Given the description of an element on the screen output the (x, y) to click on. 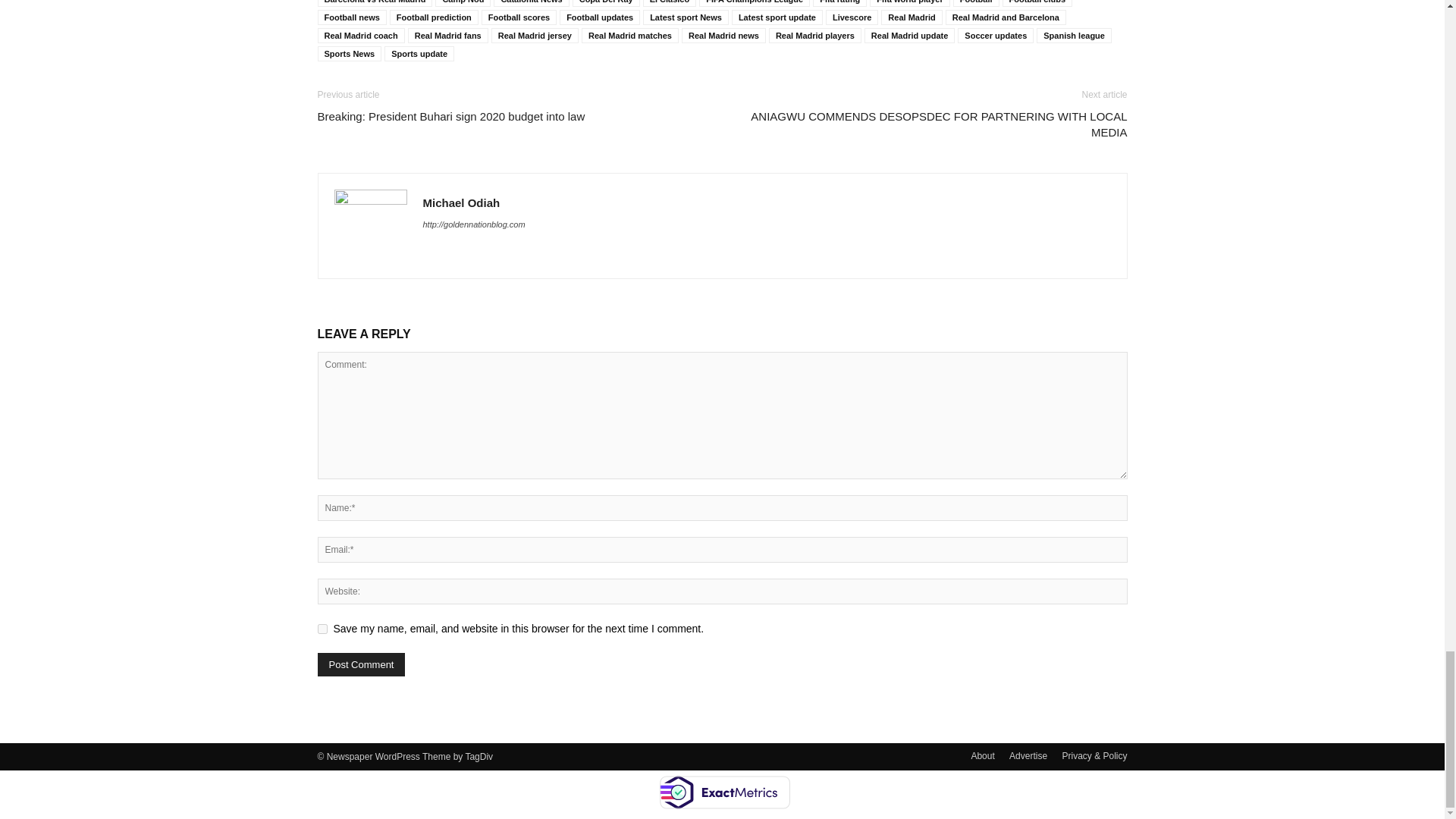
Post Comment (360, 664)
Fifa world player (909, 3)
Football (975, 3)
Football clubs (1038, 3)
Verified by ExactMetrics (722, 792)
yes (321, 628)
Latest sport News (686, 17)
FIFA Champions League (753, 3)
El Clasico (670, 3)
Livescore (851, 17)
Barcelona vs Real Madrid (374, 3)
Catalonia News (531, 3)
Latest sport update (777, 17)
Football news (351, 17)
Copa Del Ray (606, 3)
